Given the description of an element on the screen output the (x, y) to click on. 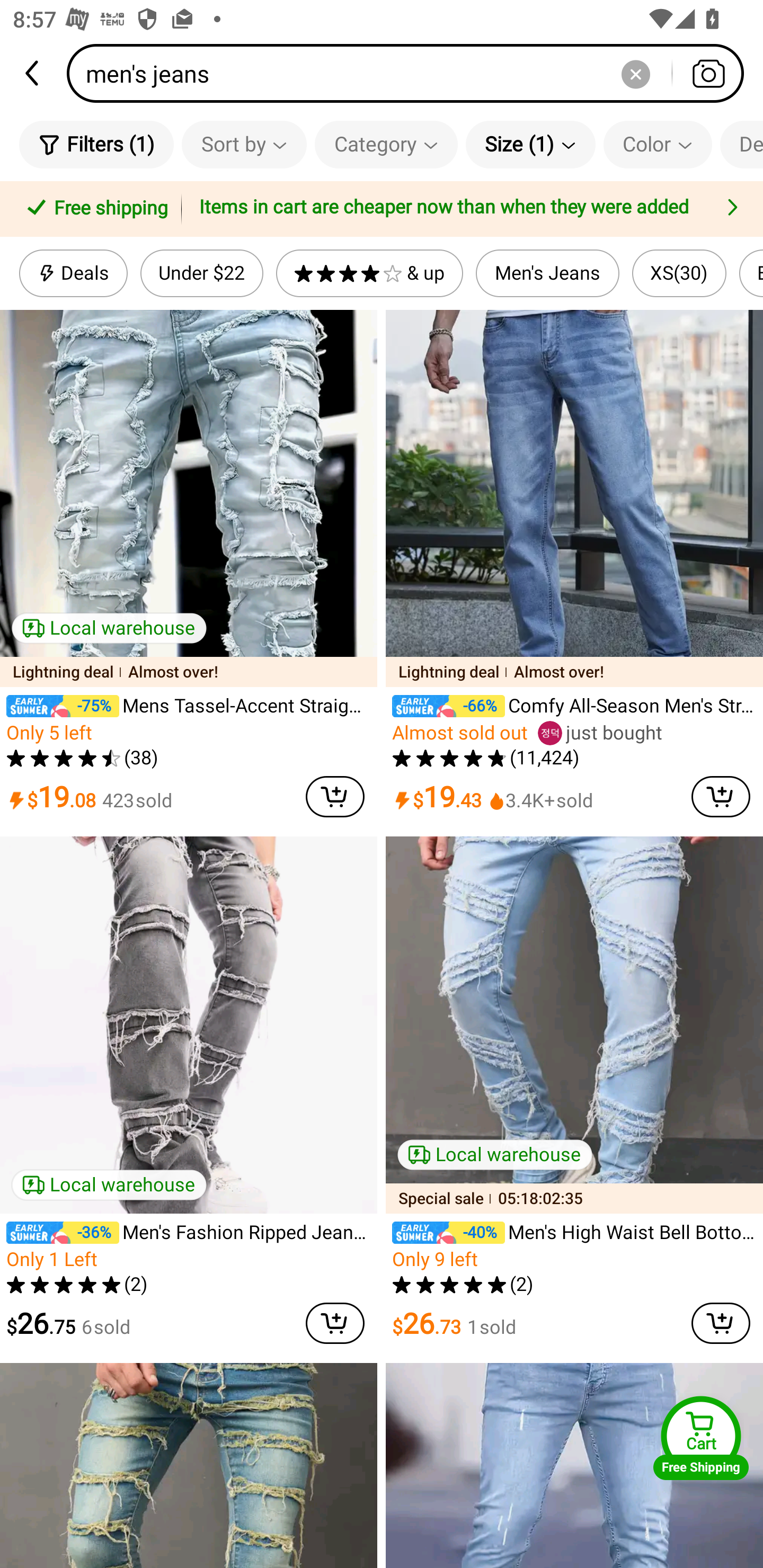
back (33, 72)
men's jeans (411, 73)
Delete search history (635, 73)
Search by photo (708, 73)
Filters (1) (96, 143)
Sort by (243, 143)
Category (385, 143)
Size (1) (530, 143)
Color (657, 143)
 Free shipping (93, 208)
Deals (73, 273)
Under $22 (201, 273)
& up (369, 273)
Men's Jeans (547, 273)
XS(30) (678, 273)
Cart Free Shipping Cart (701, 1437)
